Given the description of an element on the screen output the (x, y) to click on. 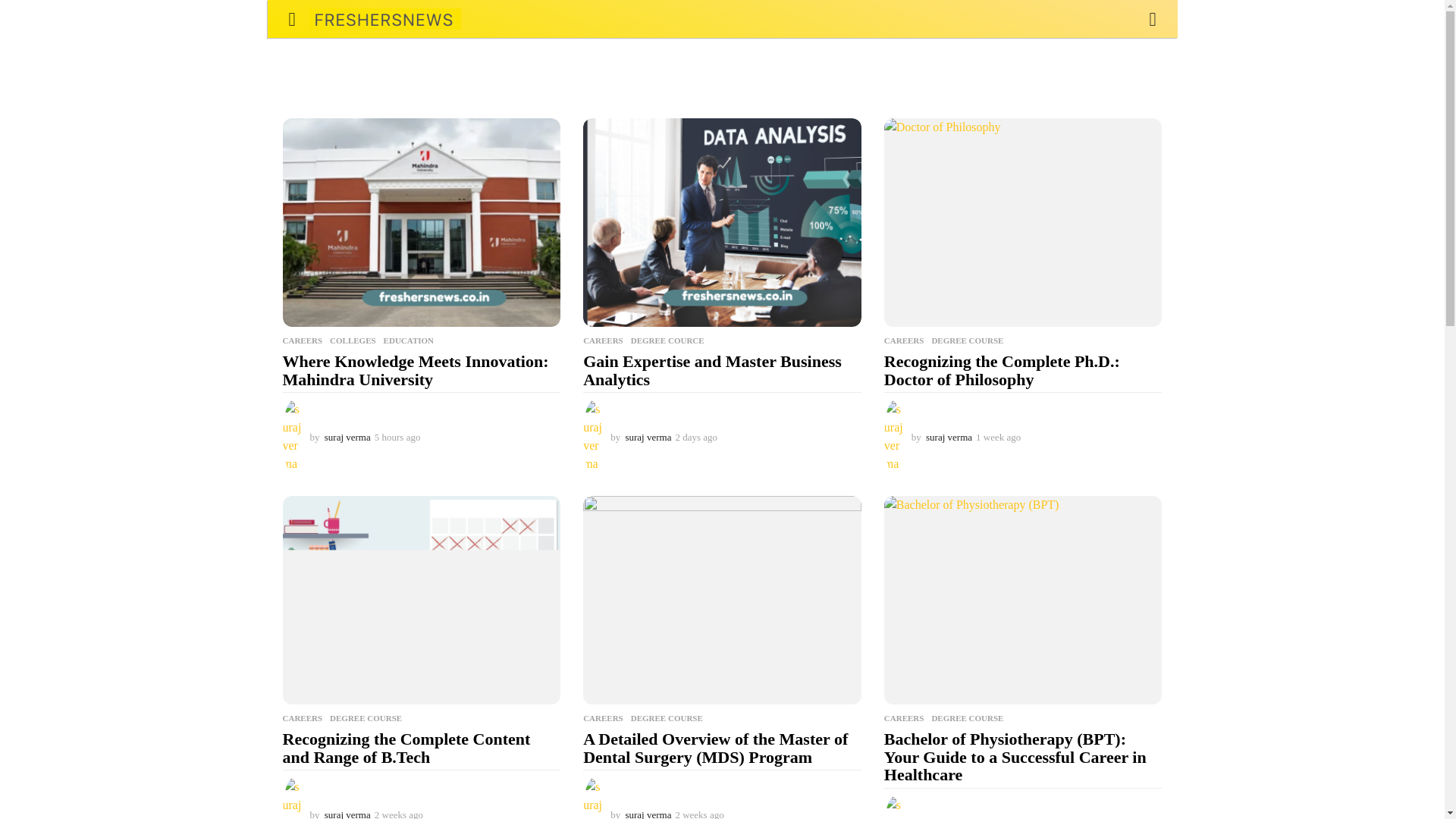
CAREERS (301, 717)
Recognizing the Complete Content and Range of B.Tech (421, 600)
EDUCATION (408, 339)
suraj verma (647, 437)
Recognizing the Complete Content and Range of B.Tech (405, 747)
Recognizing the Complete Ph.D.: Doctor of Philosophy (1001, 370)
COLLEGES (352, 339)
DEGREE COURSE (365, 717)
CAREERS (301, 339)
DEGREE COURSE (967, 339)
